Given the description of an element on the screen output the (x, y) to click on. 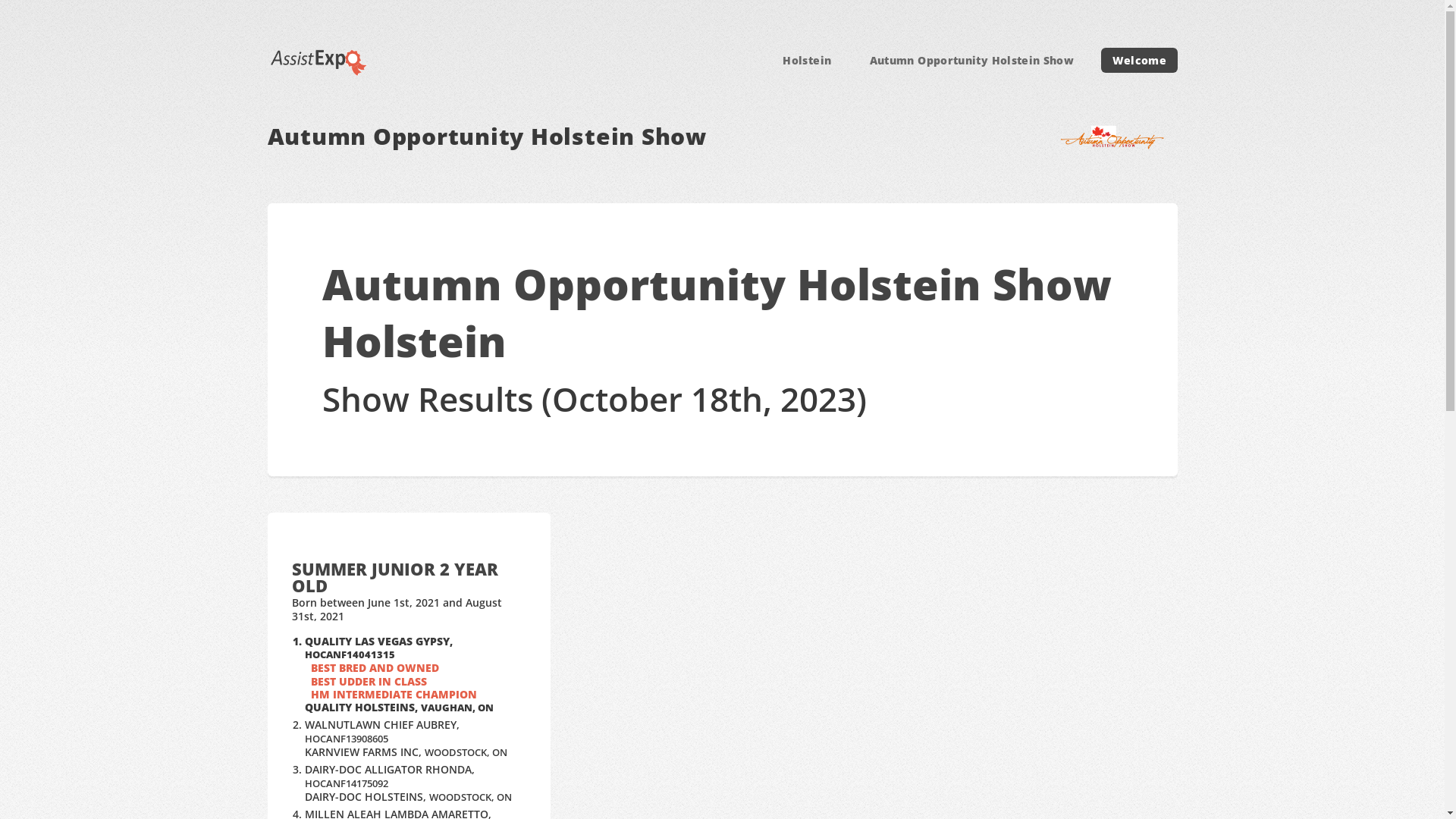
Holstein Element type: text (806, 59)
Welcome Element type: text (1138, 59)
Autumn Opportunity Holstein Show Element type: text (971, 59)
Complete Software for Ag Shows Element type: hover (318, 60)
